Given the description of an element on the screen output the (x, y) to click on. 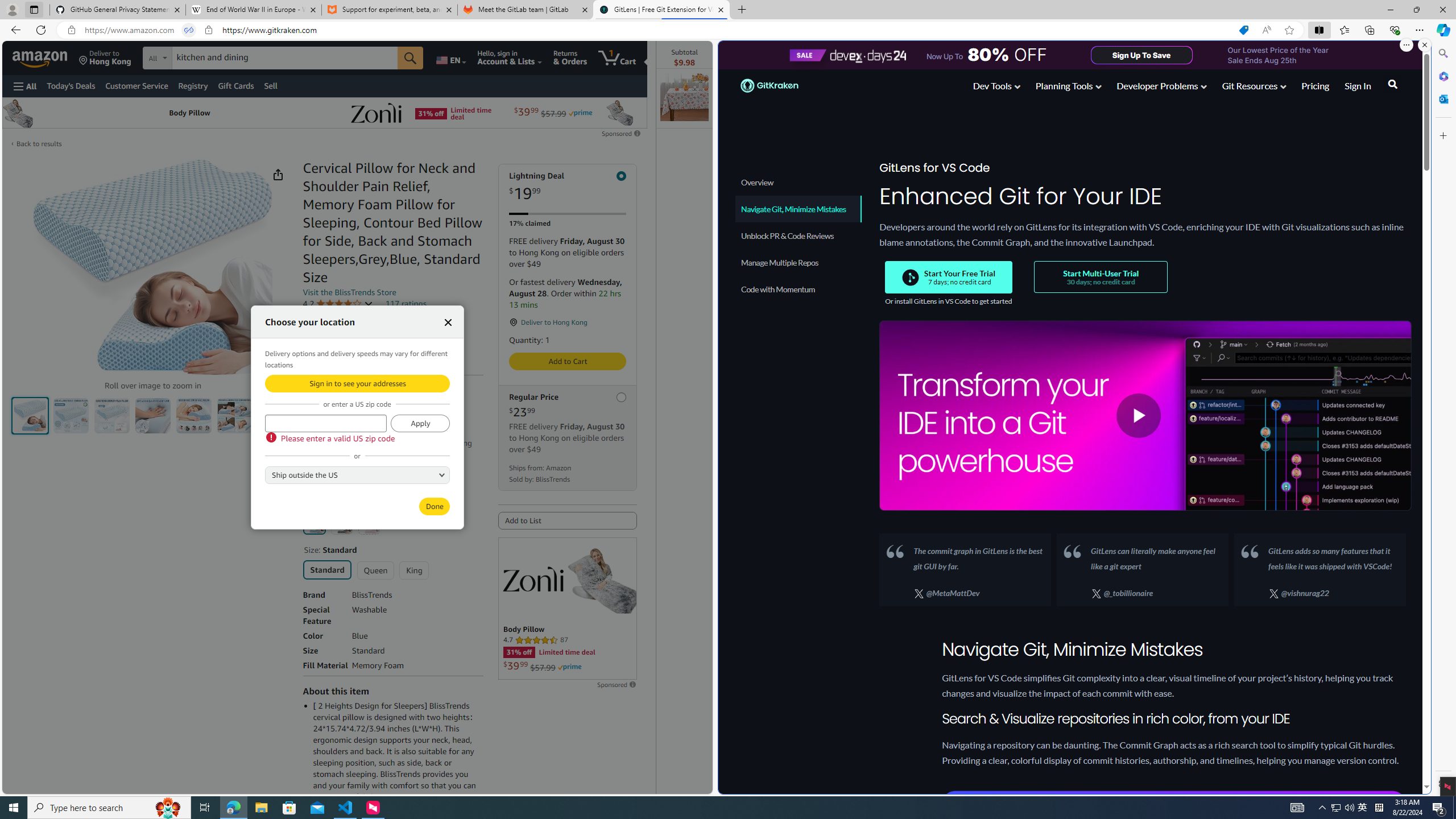
Registry (192, 85)
Terms (373, 481)
Sign In (1357, 87)
Lightning Deal $19.99 (567, 186)
Hello, sign in Account & Lists (509, 57)
Or install GitLens in VS Code to get started (948, 300)
117 ratings (405, 303)
Back to results (39, 144)
Apply 20% coupon Shop items | Terms (353, 465)
